Given the description of an element on the screen output the (x, y) to click on. 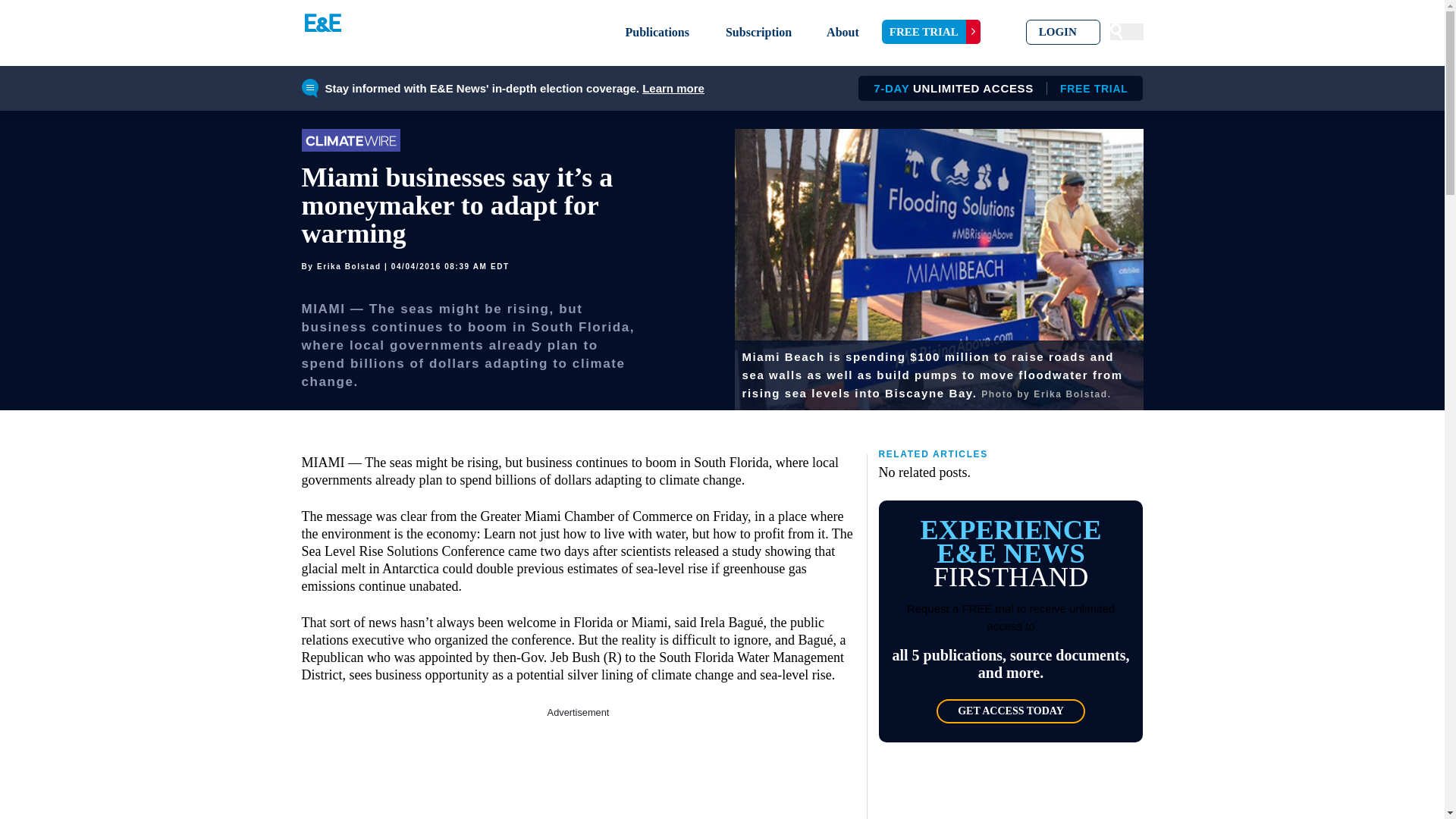
Learn more (673, 88)
Publications (656, 32)
GET ACCESS TODAY (1010, 711)
LOGIN (1063, 32)
FREE TRIAL (930, 31)
3rd party ad content (577, 769)
About (994, 88)
Subscription (843, 32)
